Given the description of an element on the screen output the (x, y) to click on. 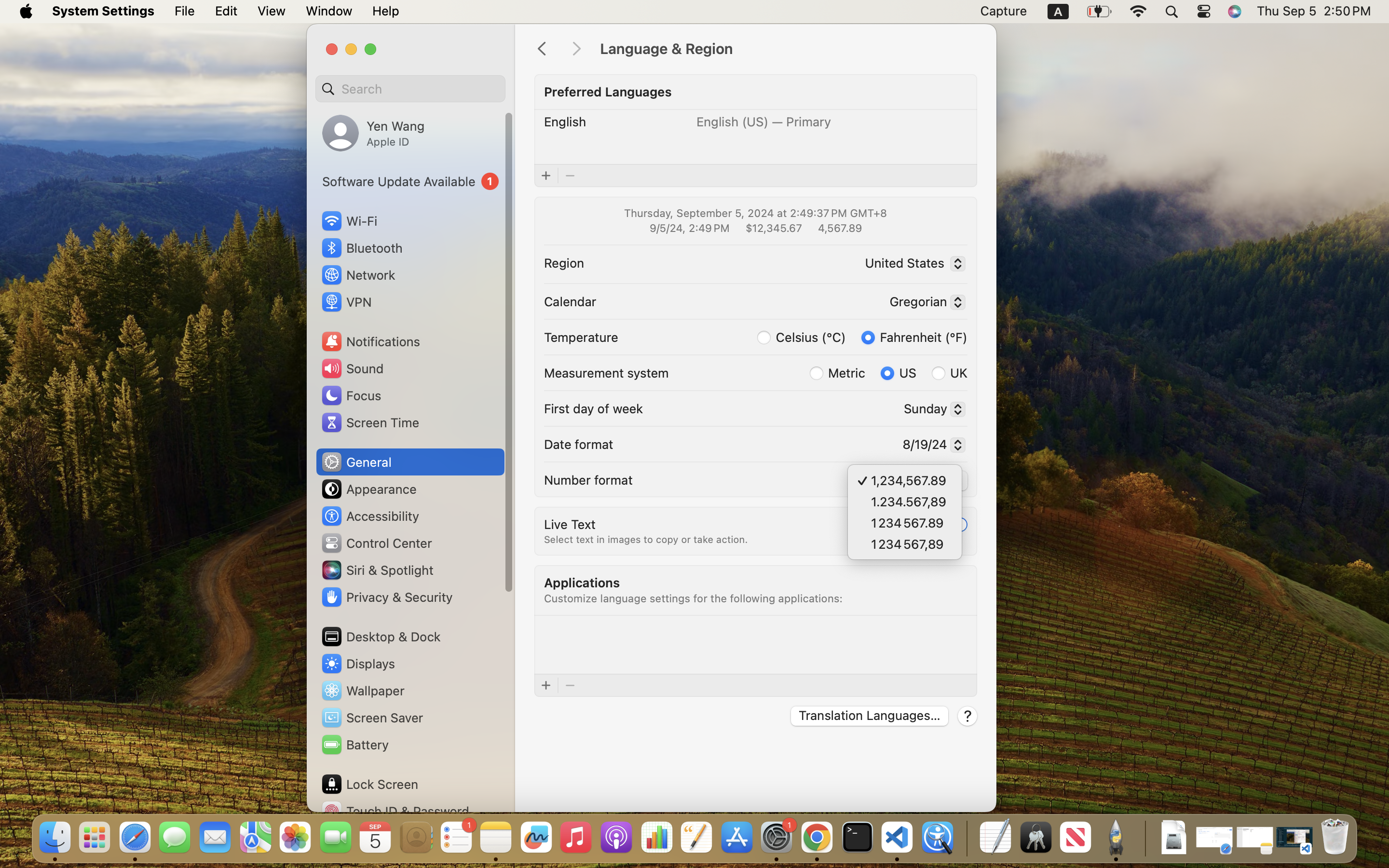
1 Element type: AXRadioButton (914, 336)
Date format Element type: AXStaticText (578, 443)
Region Element type: AXStaticText (564, 262)
Touch ID & Password Element type: AXStaticText (394, 810)
Network Element type: AXStaticText (357, 274)
